Given the description of an element on the screen output the (x, y) to click on. 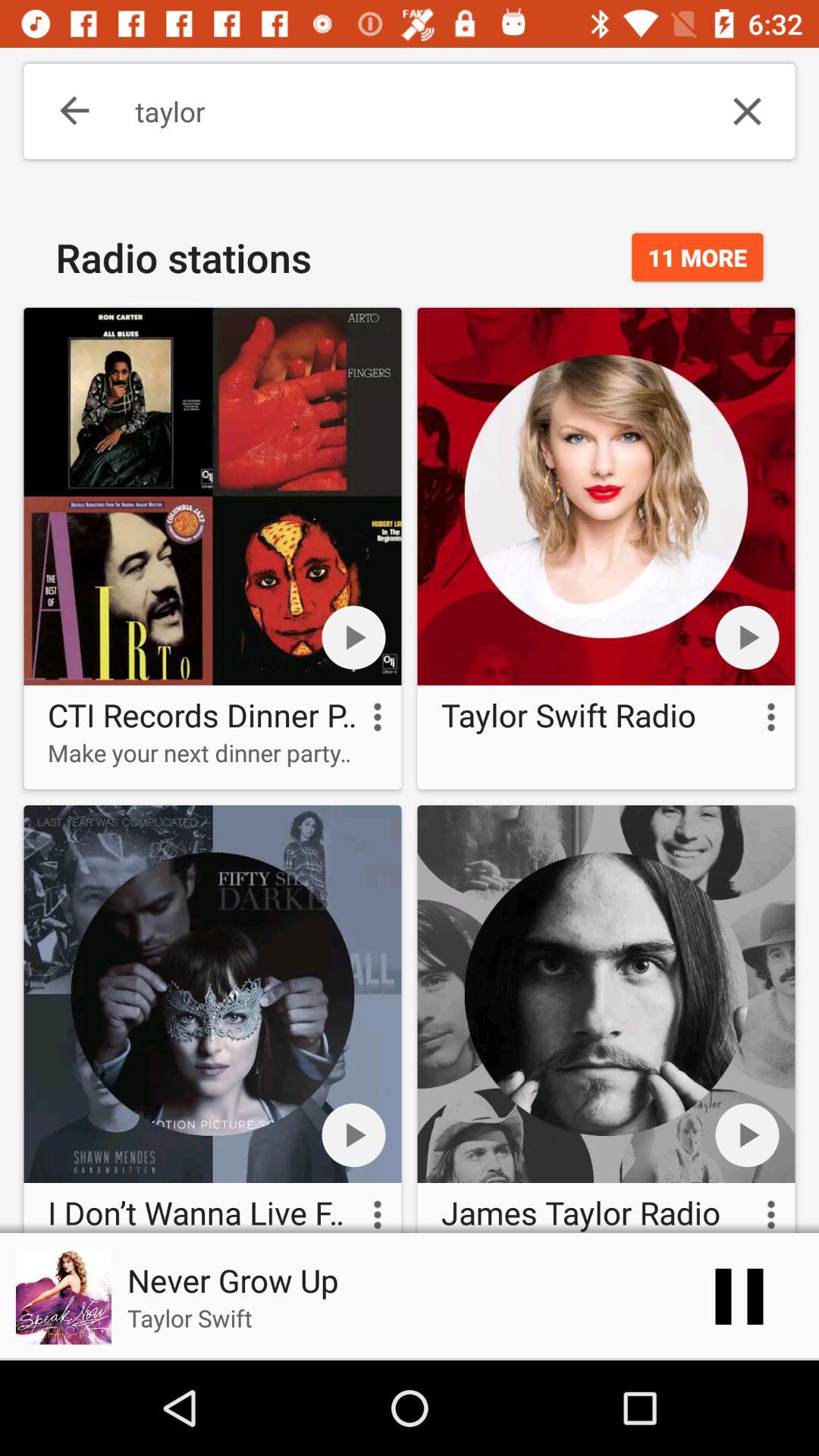
turn on the item above the 11 more (747, 111)
